Given the description of an element on the screen output the (x, y) to click on. 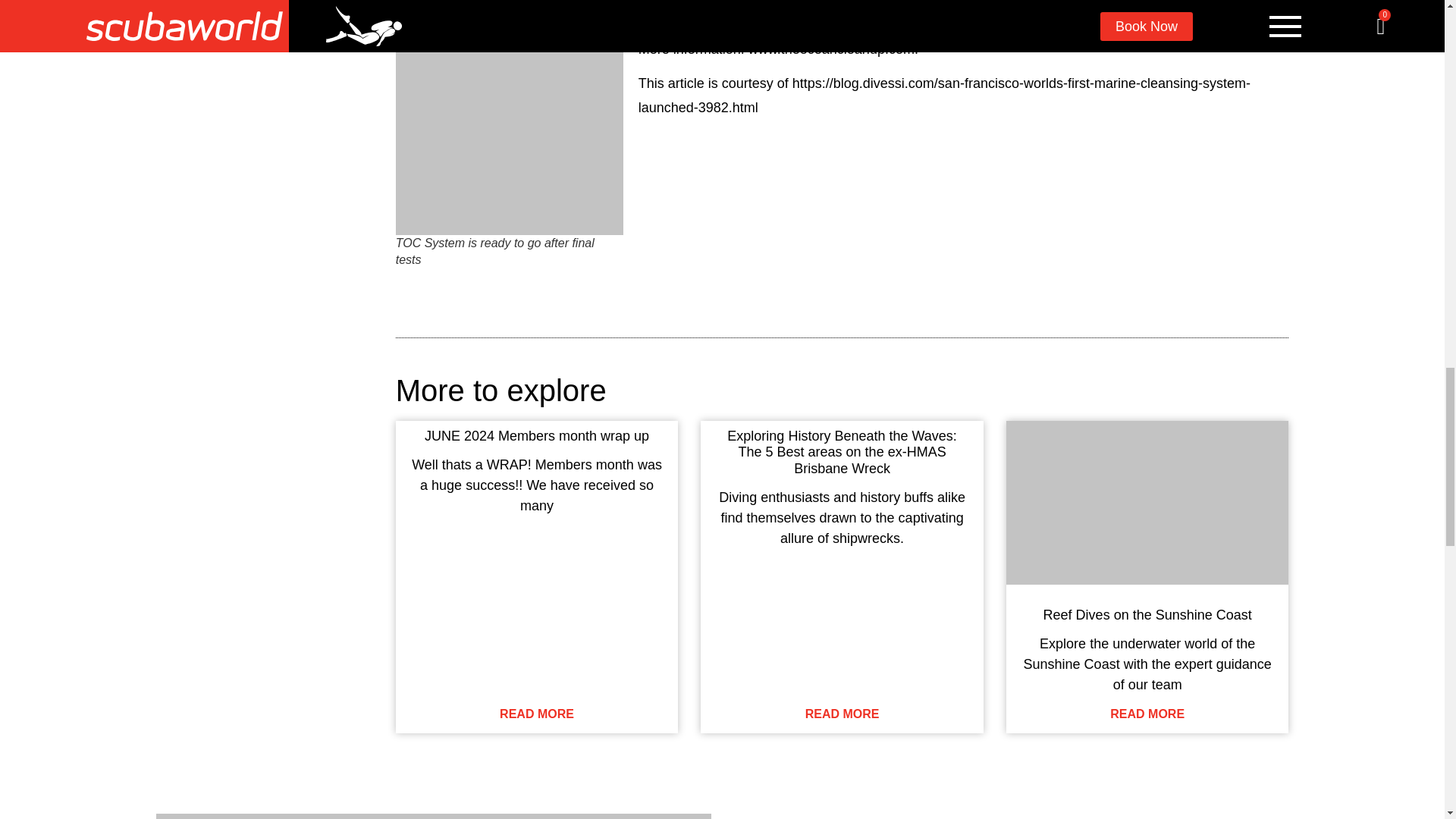
JUNE 2024 Members month wrap up (537, 435)
READ MORE (536, 713)
READ MORE (1147, 713)
READ MORE (842, 713)
Reef Dives on the Sunshine Coast (1147, 614)
